Given the description of an element on the screen output the (x, y) to click on. 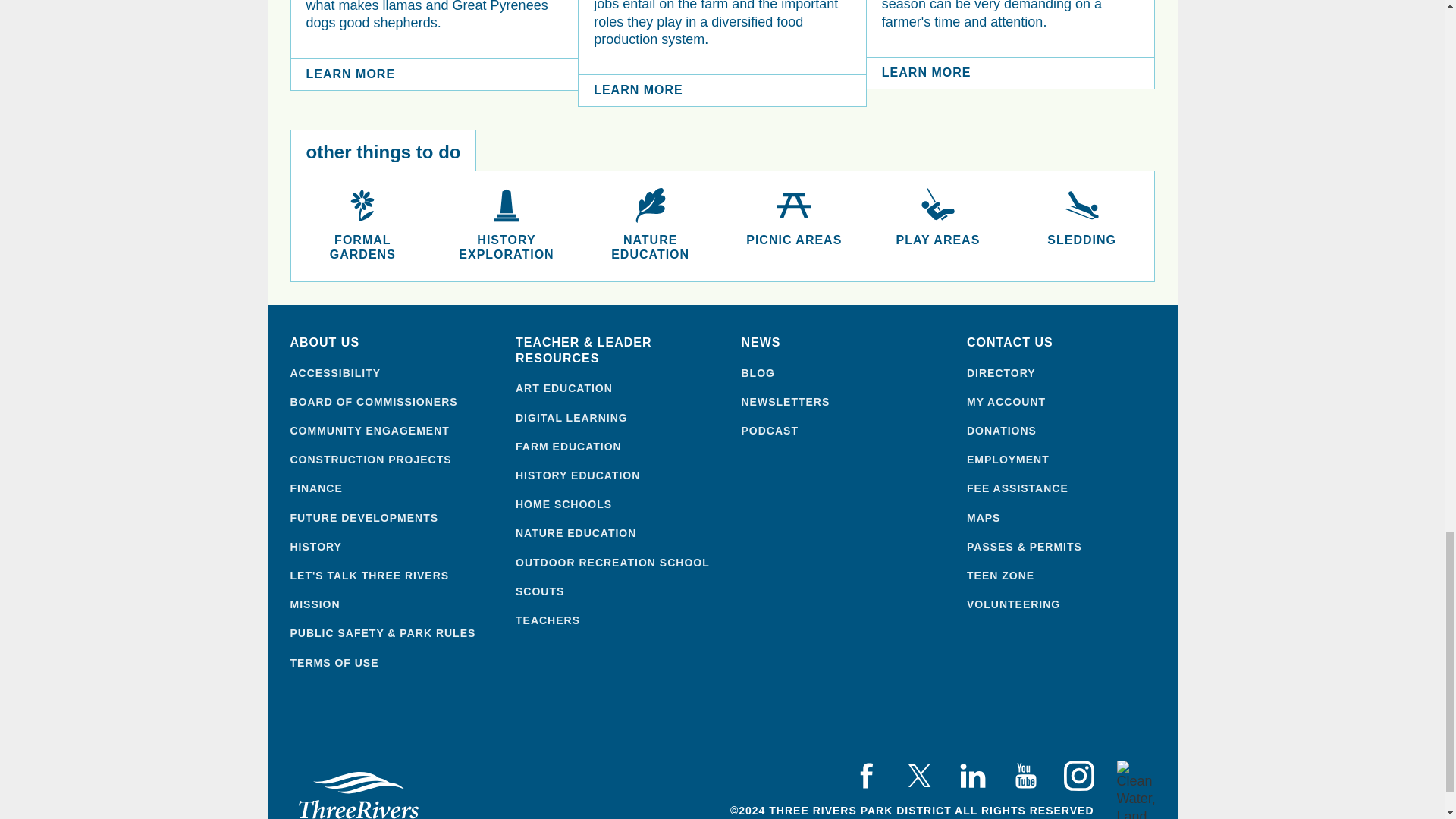
Free digital programming (617, 418)
Volunteer, job and internship opportunities for teens. (1068, 575)
Fee Assistance (1068, 488)
LEARN MORE (722, 90)
Share feedback on active planning projects. (391, 575)
About Us (391, 342)
LEARN MORE (434, 74)
Employment opportunities (1068, 459)
Three Rivers Park District website terms of use (391, 662)
